Given the description of an element on the screen output the (x, y) to click on. 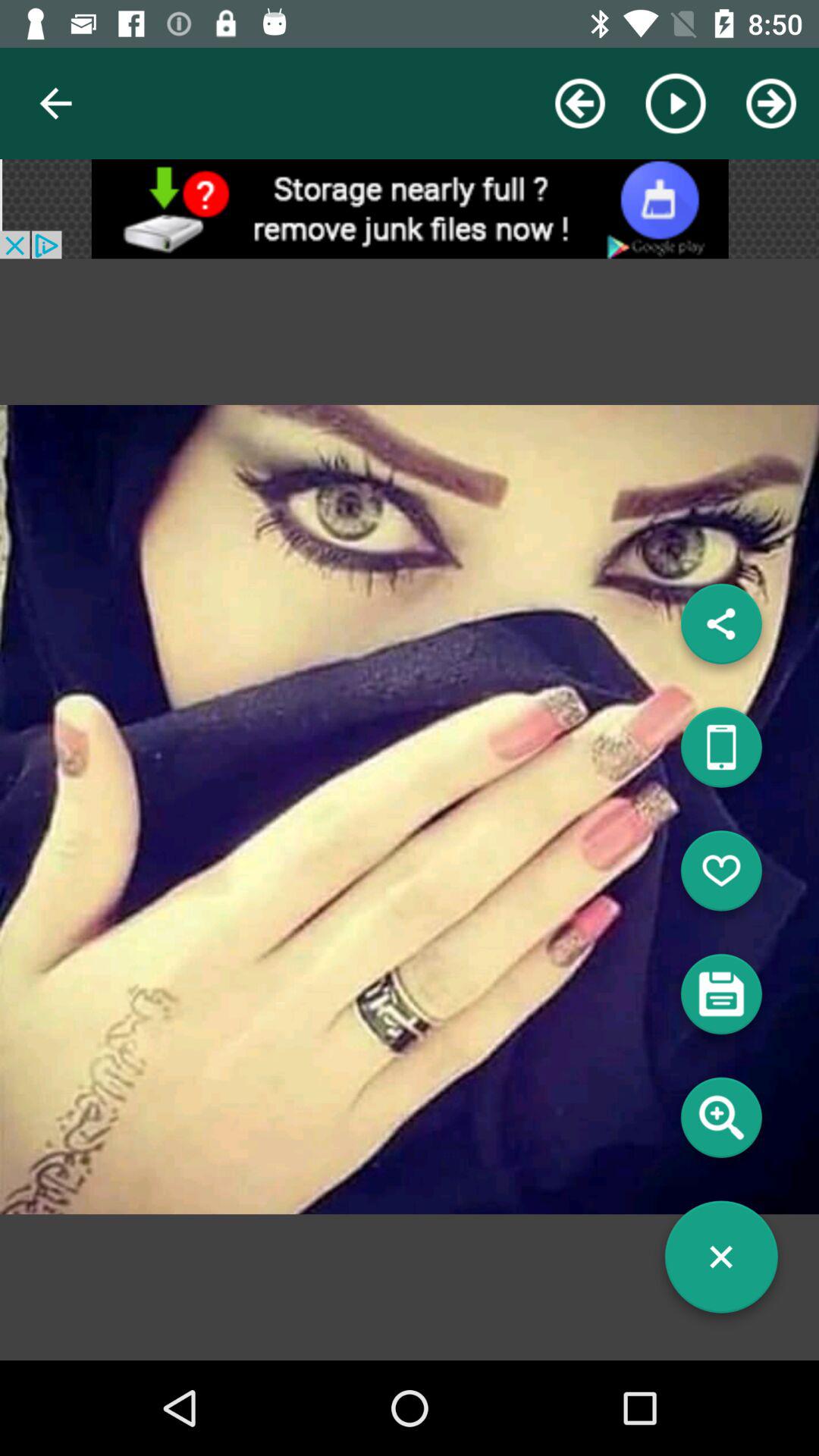
close (721, 1262)
